Given the description of an element on the screen output the (x, y) to click on. 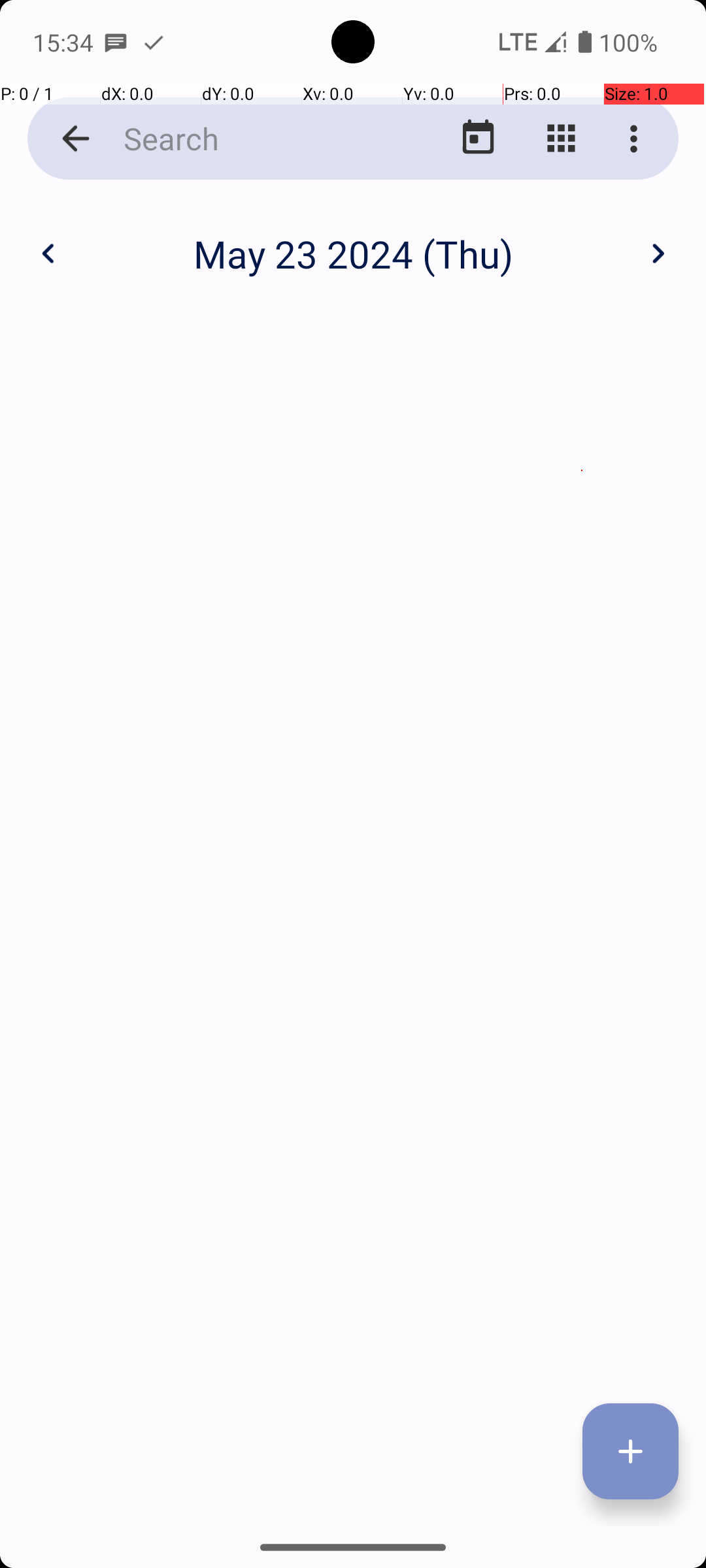
JANUARY Element type: android.widget.TextView (123, 319)
FEBRUARY Element type: android.widget.TextView (352, 319)
MARCH Element type: android.widget.TextView (582, 319)
APRIL Element type: android.widget.TextView (123, 621)
MAY Element type: android.widget.TextView (352, 621)
JUNE Element type: android.widget.TextView (582, 621)
JULY Element type: android.widget.TextView (123, 923)
AUGUST Element type: android.widget.TextView (352, 923)
SEPTEMBER Element type: android.widget.TextView (582, 923)
NOVEMBER Element type: android.widget.TextView (352, 1224)
DECEMBER Element type: android.widget.TextView (582, 1224)
May 2024 Element type: android.widget.TextView (352, 239)
May 23 2024 (Thu) Element type: android.widget.TextView (352, 253)
